Given the description of an element on the screen output the (x, y) to click on. 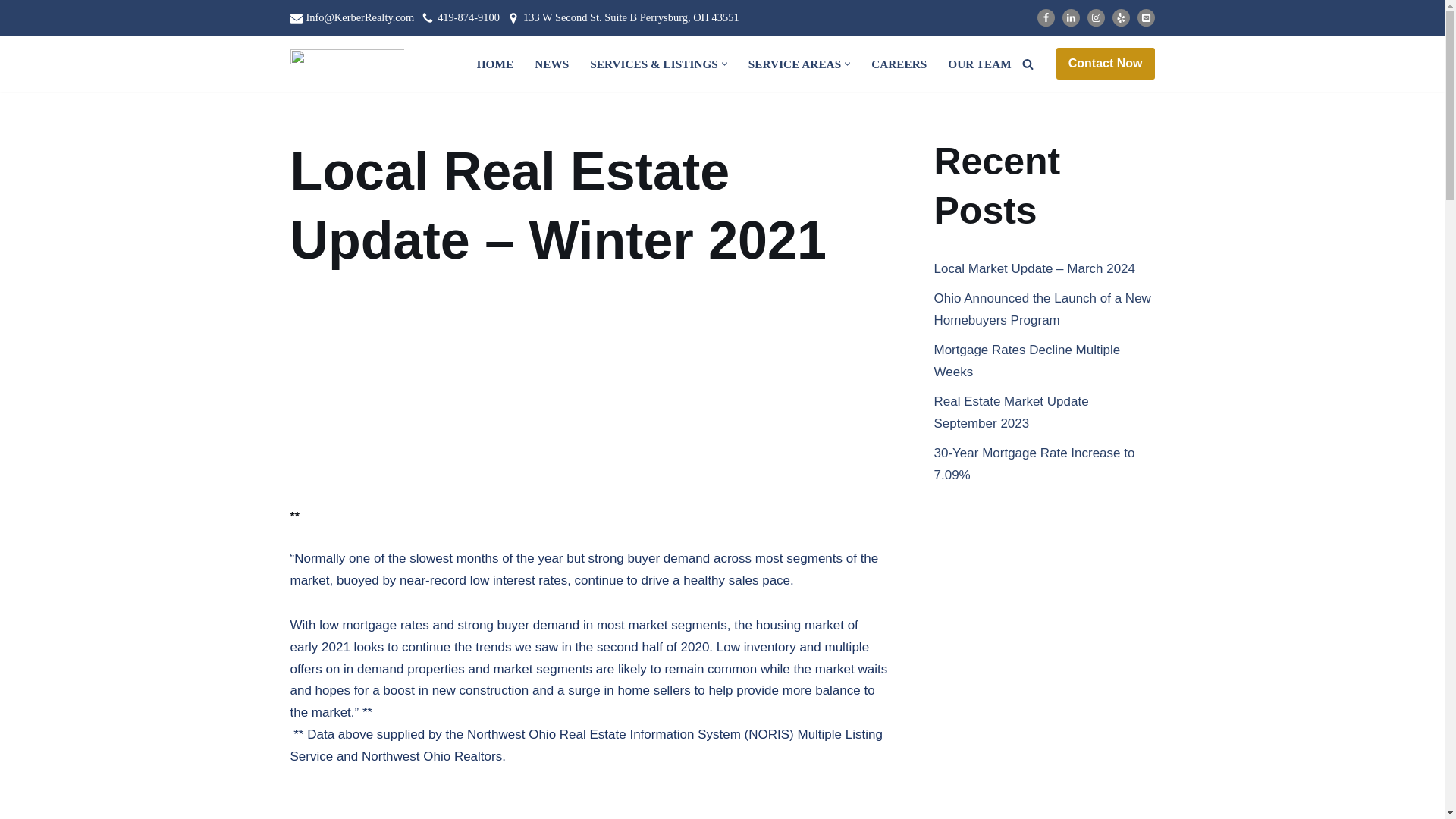
LinkedIn (1069, 17)
Contact Now (1105, 63)
419-874-9100 (468, 17)
Skip to content (11, 31)
SERVICE AREAS (794, 63)
OUR TEAM (978, 63)
Instagram (1096, 17)
HOME (495, 63)
Facebook (1045, 17)
Email (1145, 17)
CAREERS (898, 63)
NEWS (551, 63)
Yelp (1120, 17)
